Given the description of an element on the screen output the (x, y) to click on. 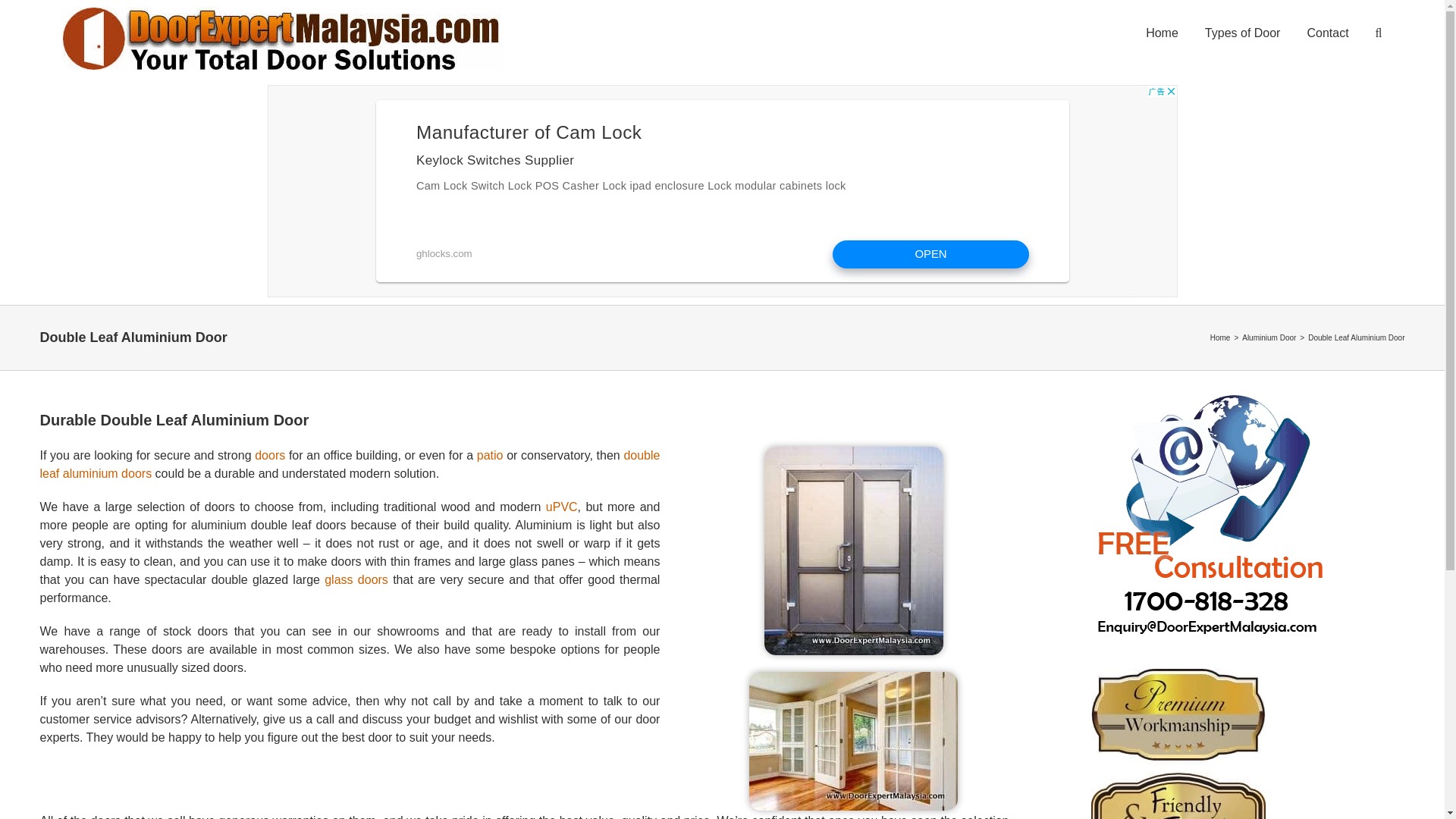
Types of Door (1243, 31)
Double Panel French Door Malaysia (853, 740)
Durable Double Leaf Aluminium Door (524, 419)
